Given the description of an element on the screen output the (x, y) to click on. 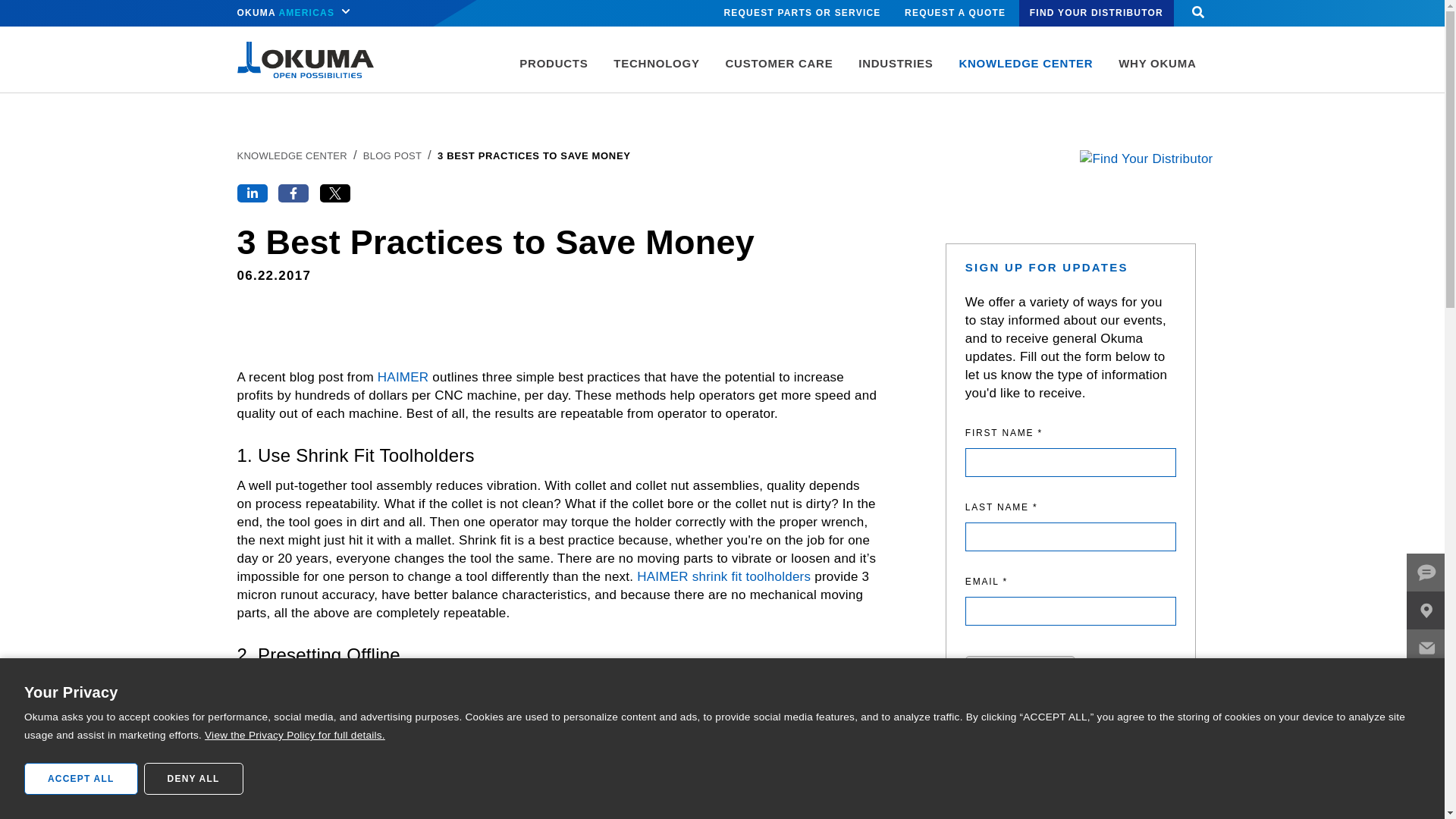
TECHNOLOGY (656, 70)
REQUEST A QUOTE (954, 13)
REQUEST PARTS OR SERVICE (802, 13)
Haimer (403, 377)
Haimer Shrink Fit Toolholders (723, 576)
OKUMA AMERICAS (295, 13)
Required (1070, 581)
Preset Machine (507, 721)
Required (1070, 432)
Required (1070, 507)
FIND YOUR DISTRIBUTOR (1096, 13)
PRODUCTS (553, 70)
